Given the description of an element on the screen output the (x, y) to click on. 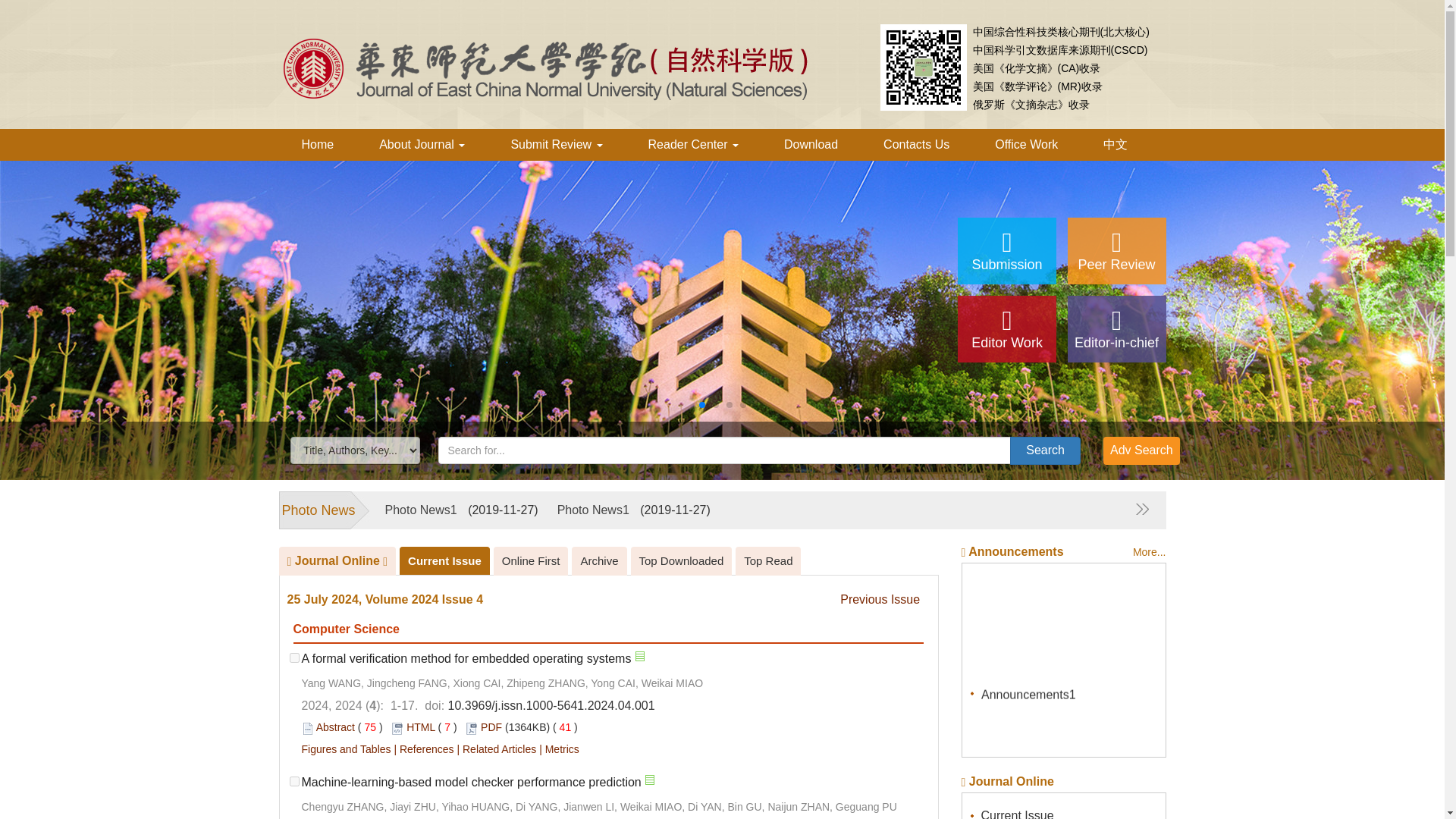
Photo News1 (421, 509)
Current Issue (443, 560)
Peer Review (1116, 250)
Editor-in-chief (1116, 328)
Submission (1007, 250)
Search (1045, 450)
Adv Search (1141, 450)
Download (810, 144)
About Journal (421, 144)
26218 (294, 781)
